Given the description of an element on the screen output the (x, y) to click on. 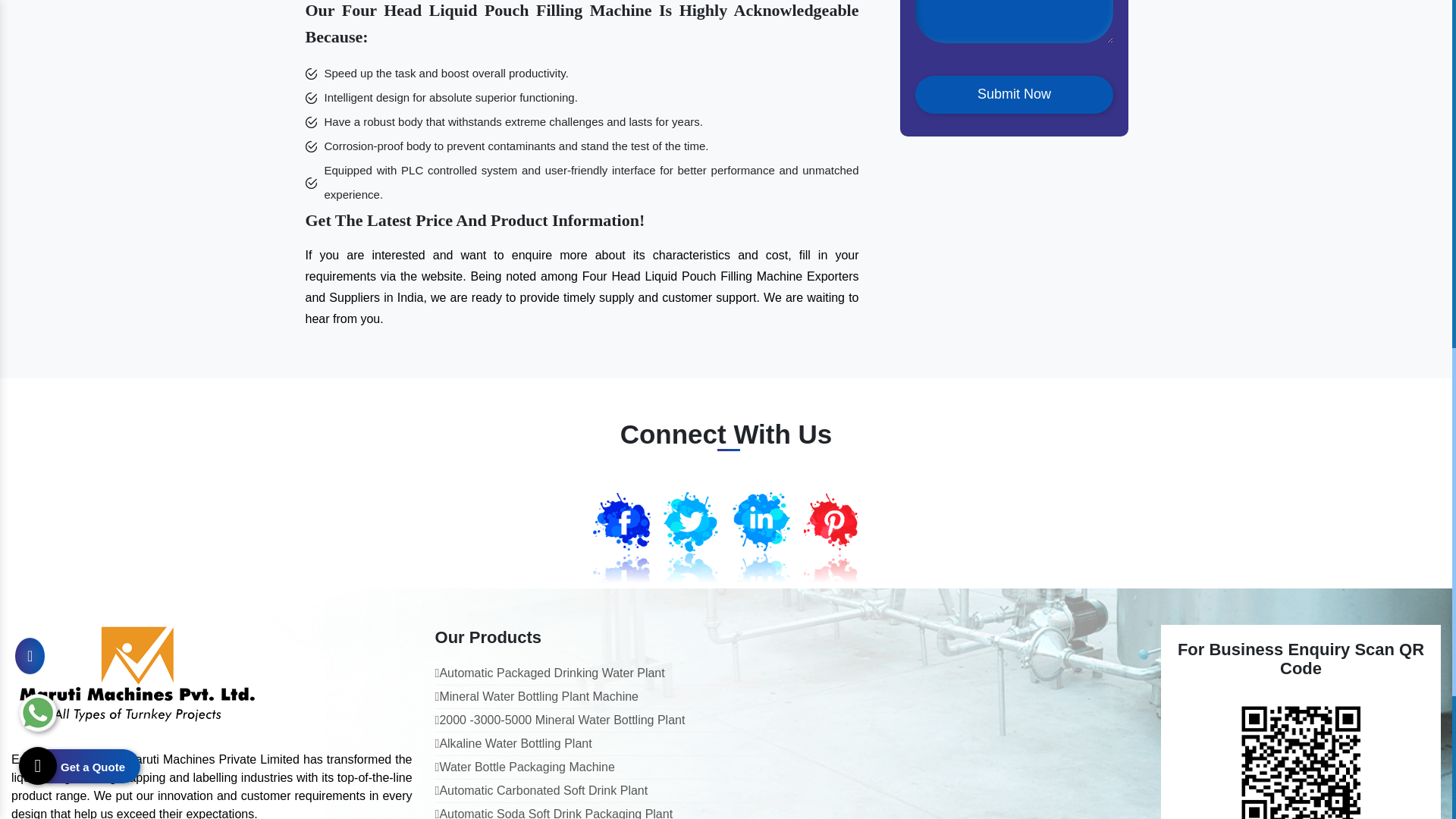
Submit Now (1013, 94)
